Given the description of an element on the screen output the (x, y) to click on. 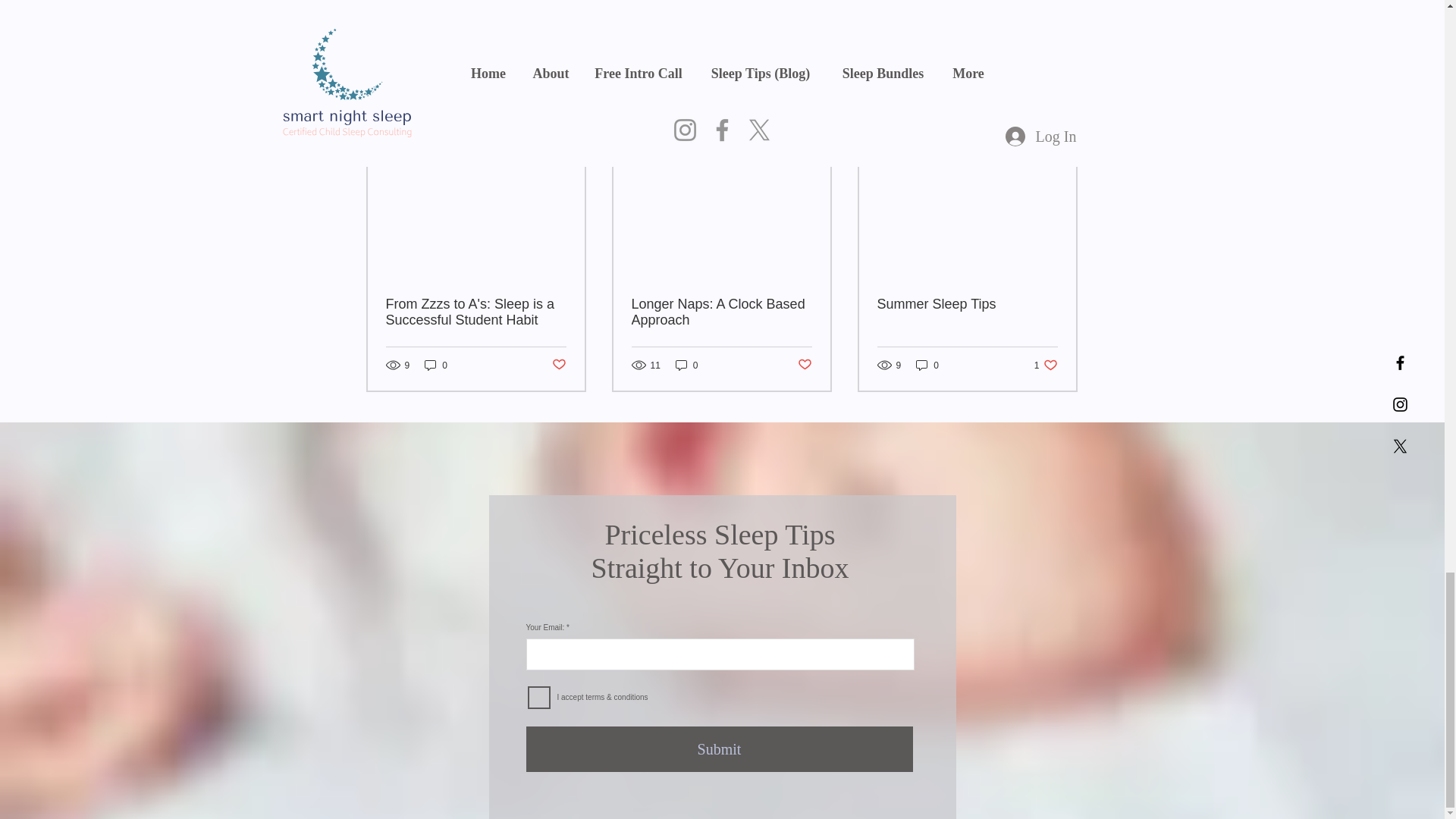
See All (990, 44)
From Zzzs to A's: Sleep is a Successful Student Habit (1061, 128)
